Given the description of an element on the screen output the (x, y) to click on. 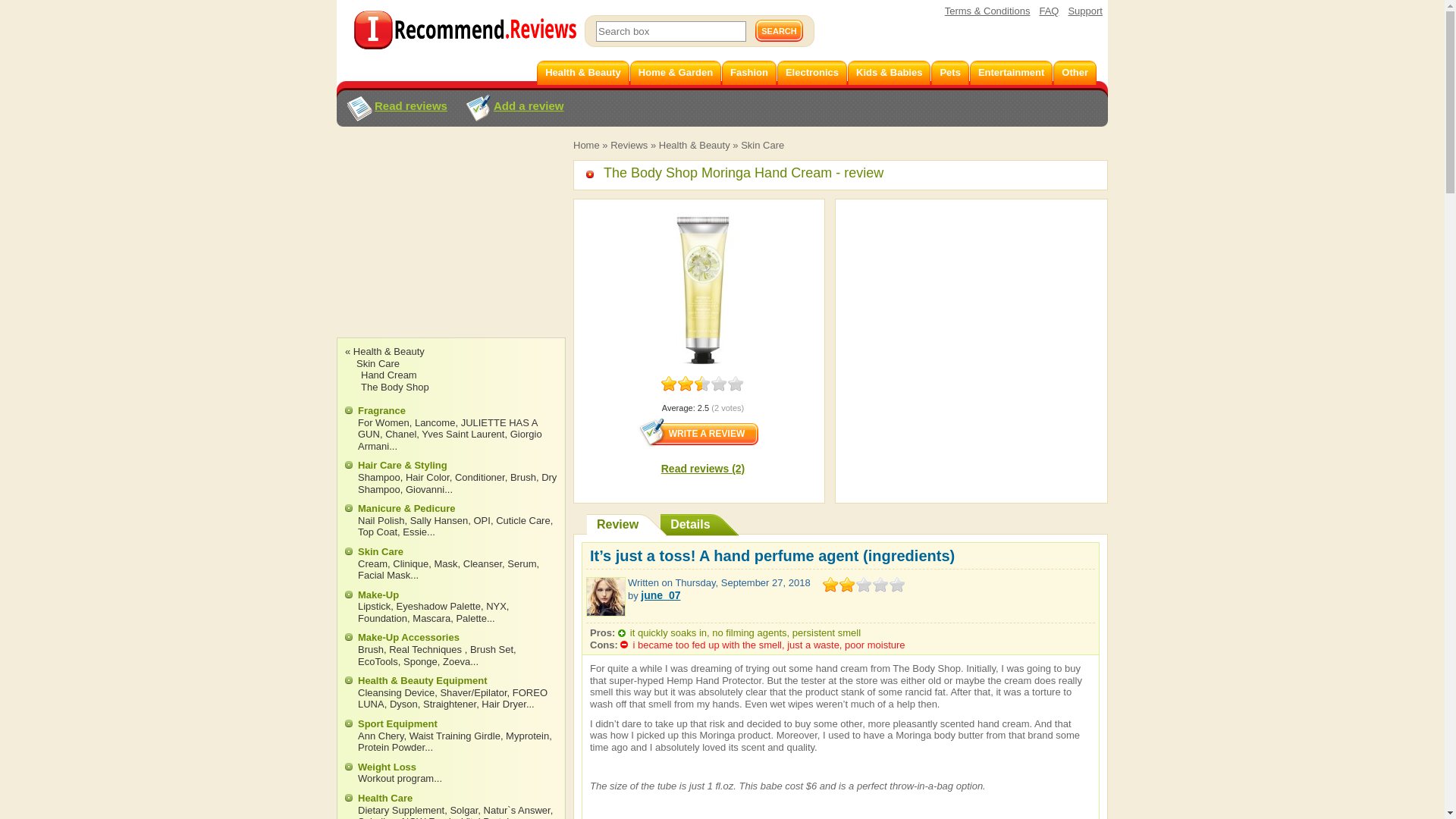
Other (1074, 72)
Pets (949, 72)
The Body Shop Moringa Hand Cream - review (734, 172)
Search (779, 30)
Reviews (628, 144)
Support (1084, 10)
View user profile. (659, 594)
Fashion (749, 72)
Read reviews (396, 109)
Write a review (697, 431)
